Given the description of an element on the screen output the (x, y) to click on. 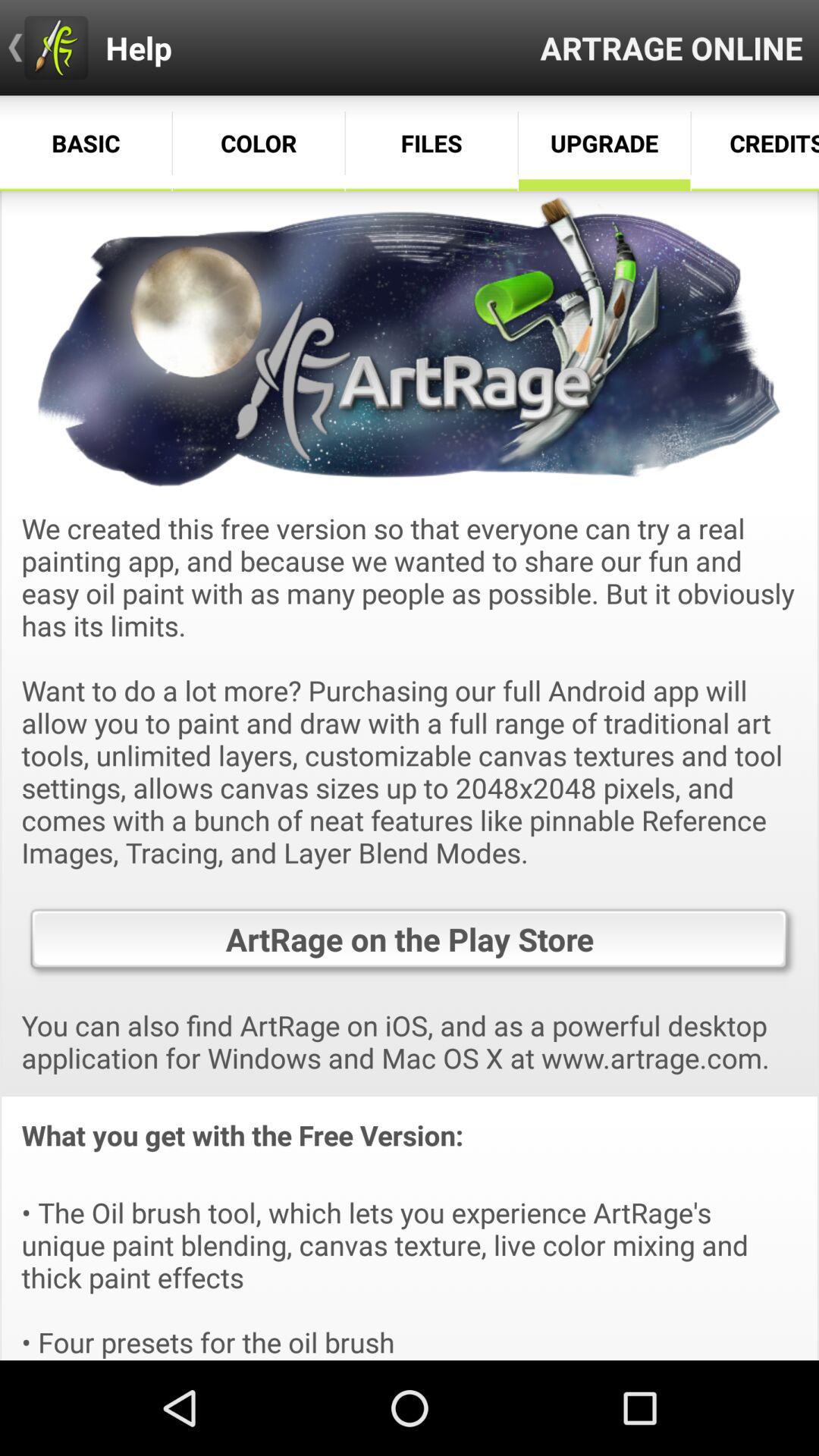
select item above the upgrade icon (671, 47)
